Given the description of an element on the screen output the (x, y) to click on. 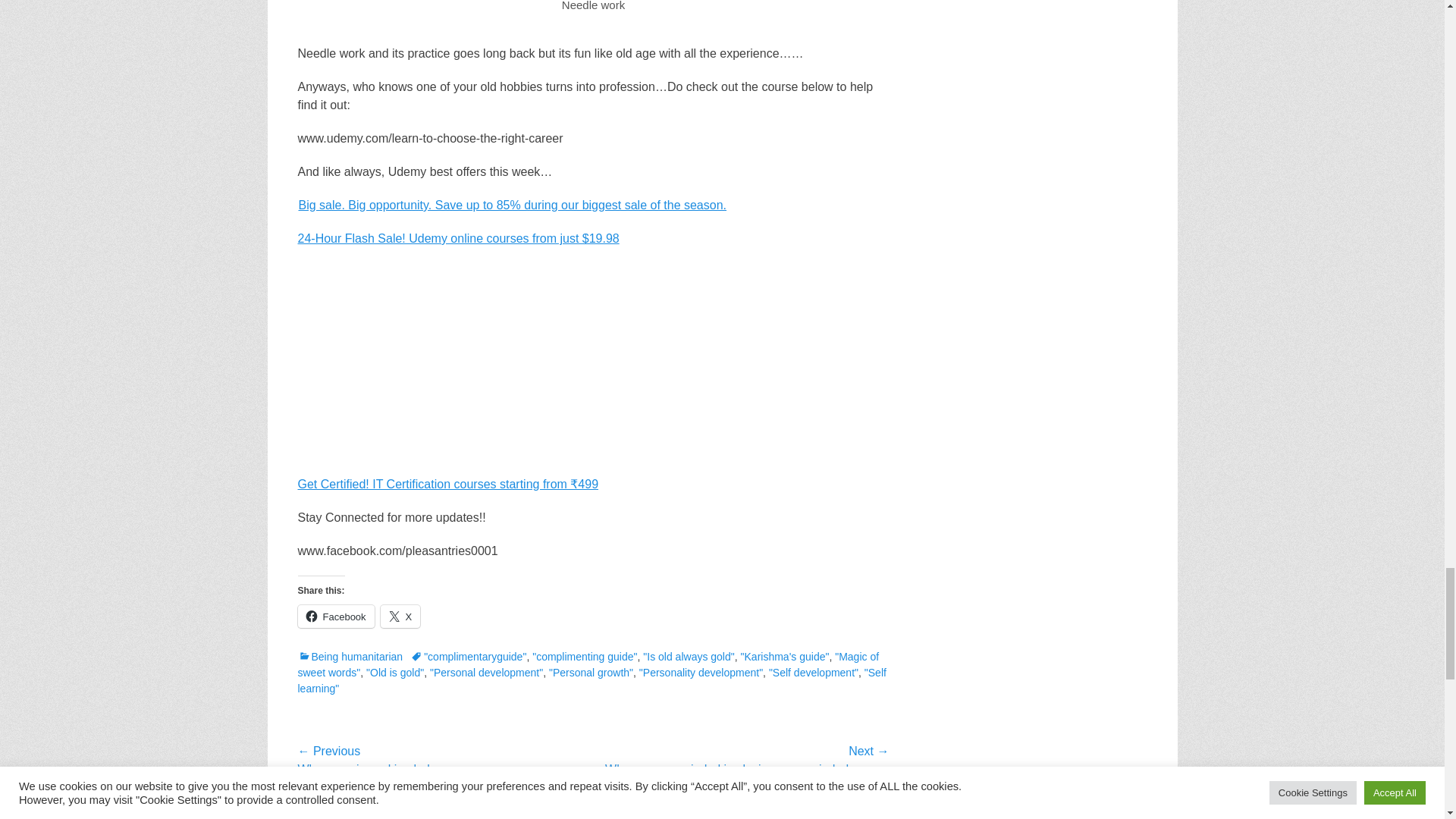
Click to share on Facebook (335, 616)
Facebook (335, 616)
"complimenting guide" (584, 656)
Being humanitarian (350, 656)
"complimentaryguide" (467, 656)
X (400, 616)
Click to share on X (400, 616)
